Given the description of an element on the screen output the (x, y) to click on. 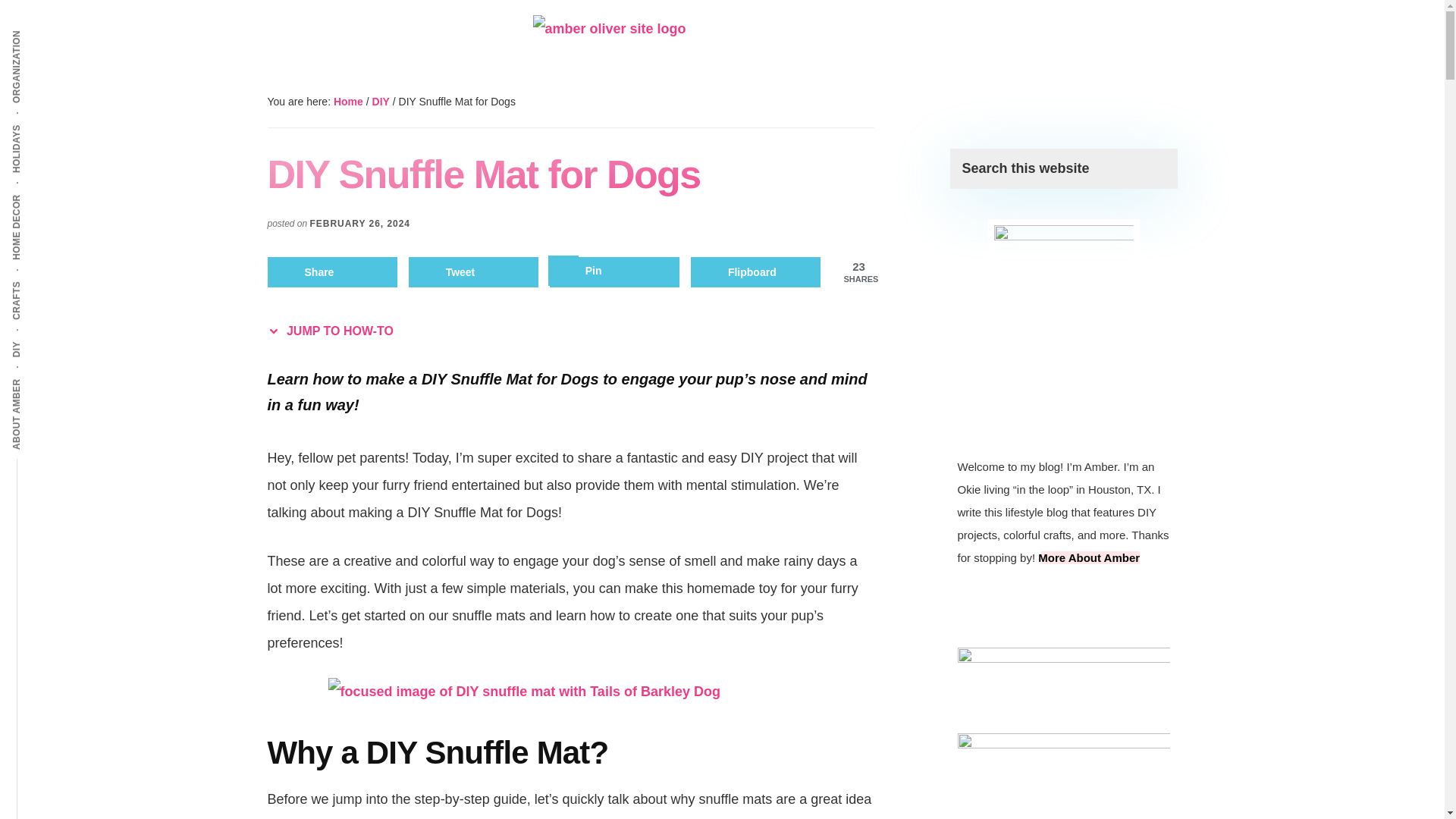
Flipboard (755, 272)
Share on Facebook (331, 272)
Share on Flipboard (755, 272)
ORGANIZATION (54, 28)
HOME DECOR (50, 192)
HOLIDAYS (41, 123)
Save to Pinterest (614, 272)
DIY (381, 101)
Tweet (473, 272)
Share on X (473, 272)
JUMP TO HOW-TO (333, 331)
CRAFTS (36, 279)
